Given the description of an element on the screen output the (x, y) to click on. 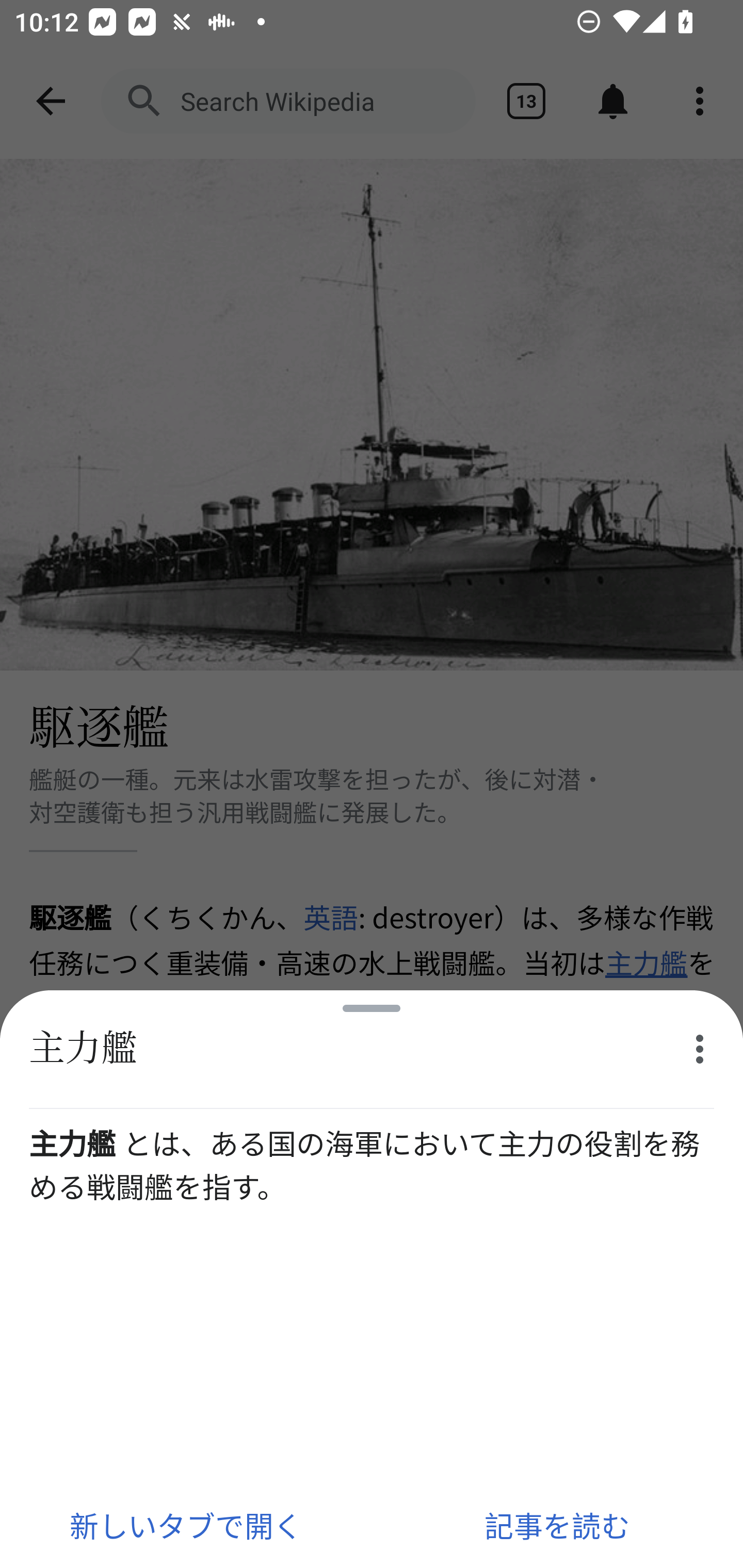
主力艦 More options (371, 1049)
More options (699, 1048)
新しいタブで開く (185, 1524)
記事を読む (557, 1524)
